Given the description of an element on the screen output the (x, y) to click on. 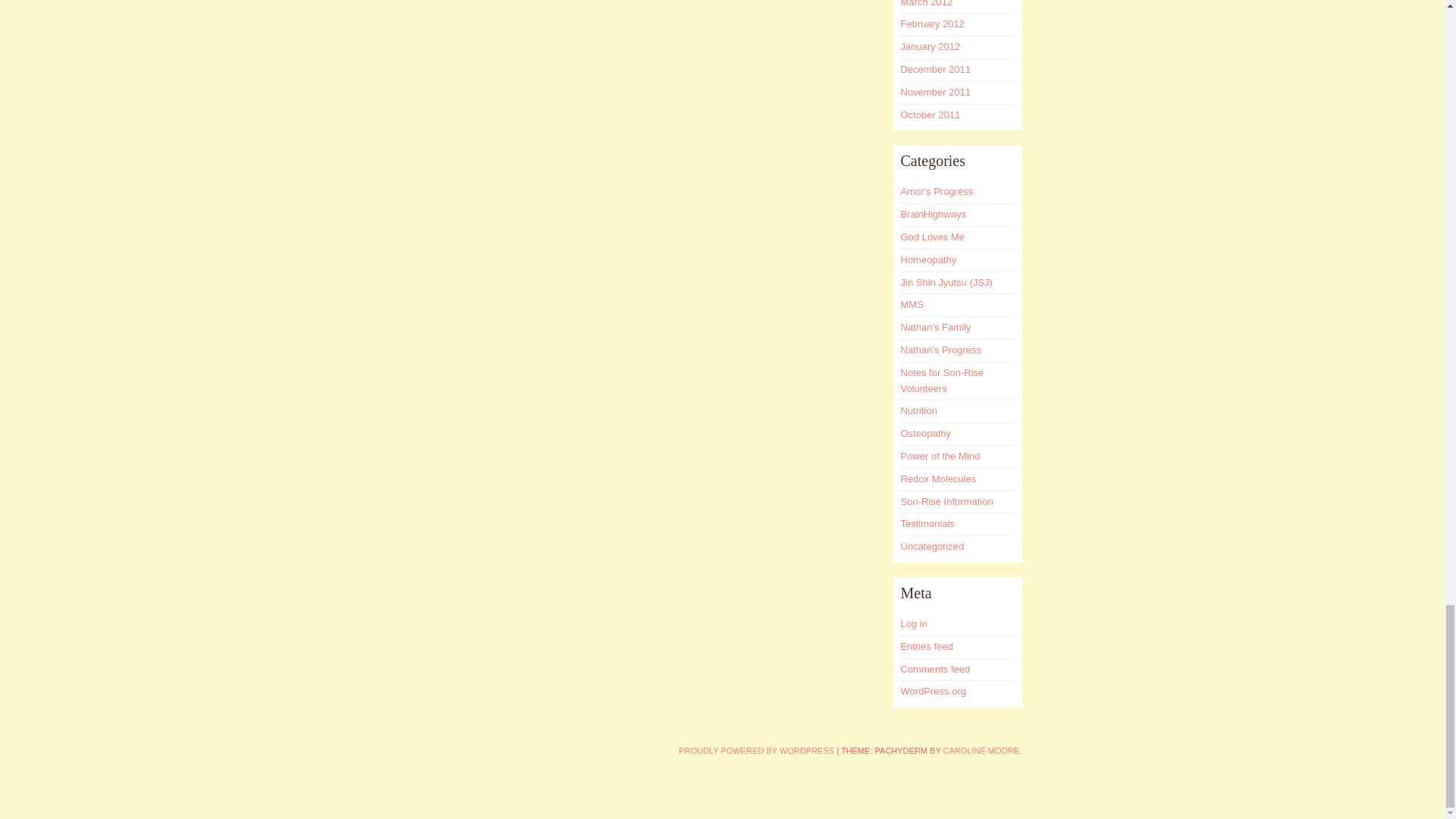
A Semantic Personal Publishing Platform (756, 750)
